Given the description of an element on the screen output the (x, y) to click on. 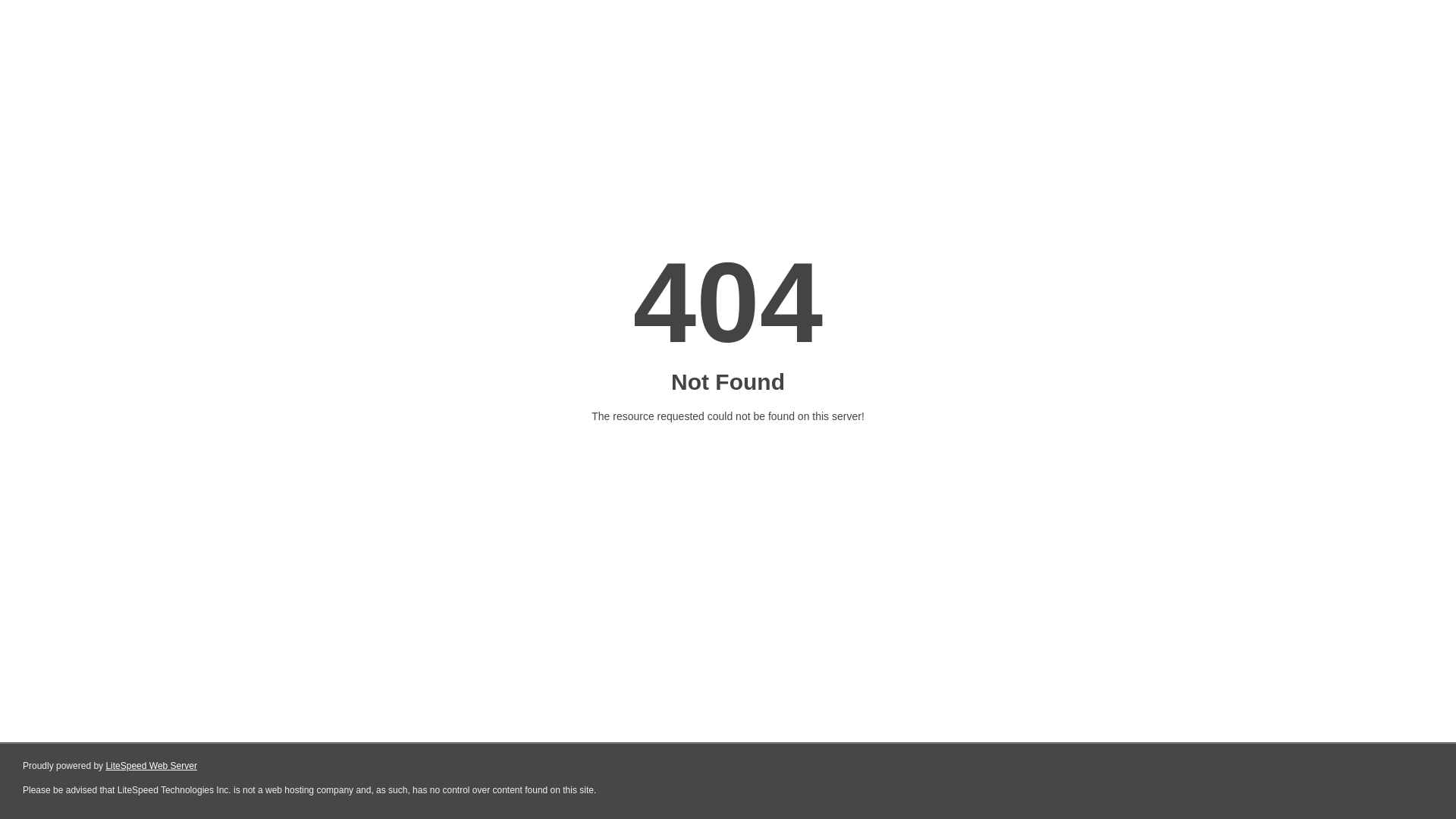
LiteSpeed Web Server Element type: text (151, 765)
